Given the description of an element on the screen output the (x, y) to click on. 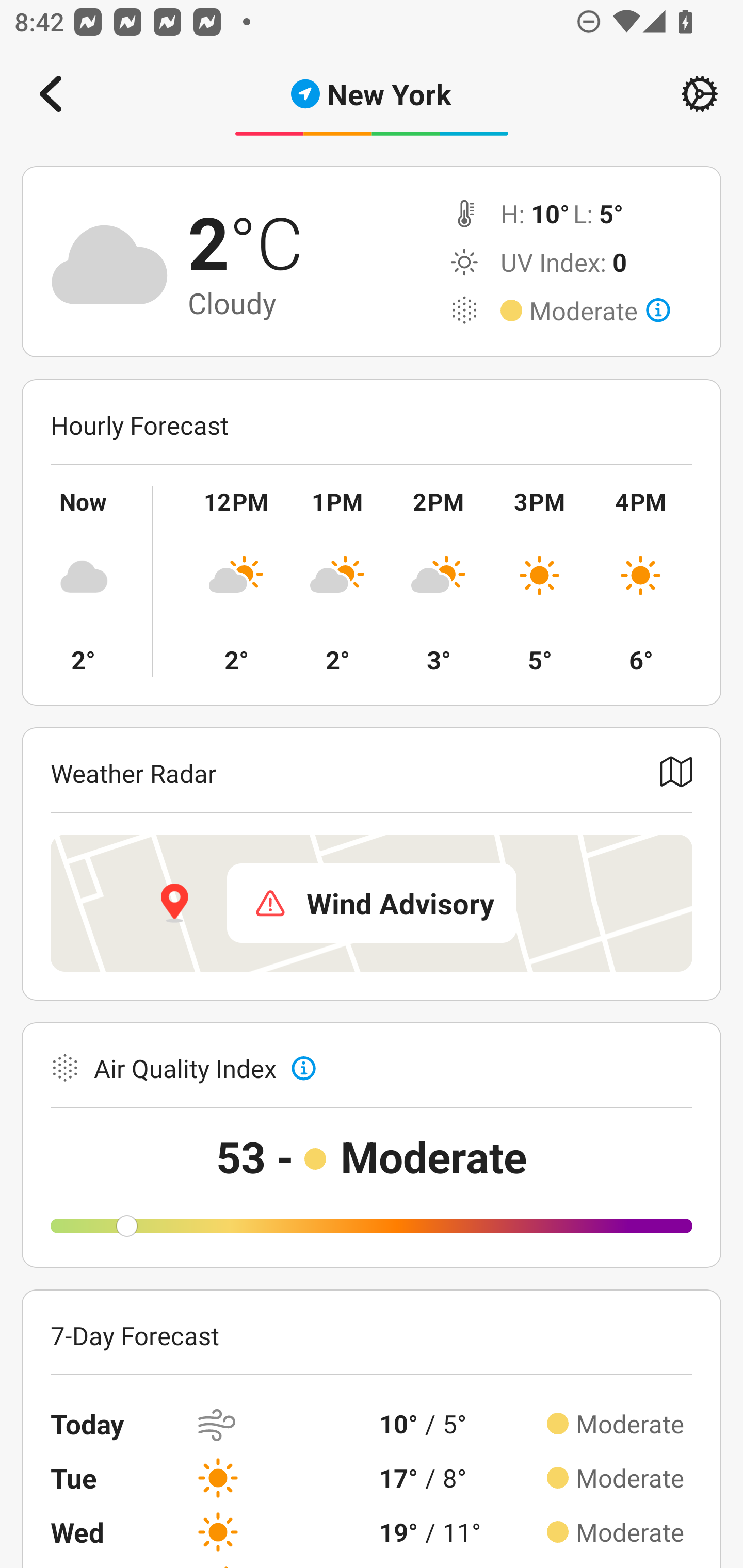
Navigate up (50, 93)
Setting (699, 93)
Moderate (599, 310)
Wind Advisory (371, 903)
